Given the description of an element on the screen output the (x, y) to click on. 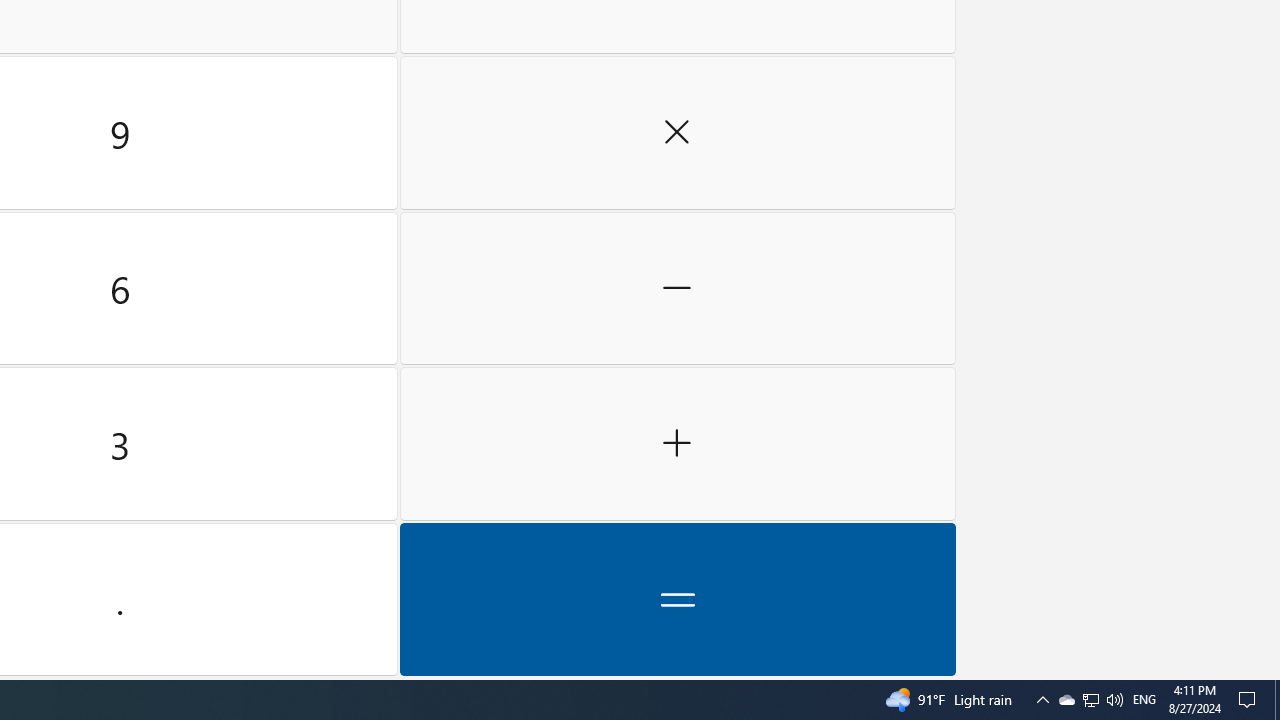
Tray Input Indicator - English (United States) (1144, 699)
Minus (677, 288)
Multiply by (677, 133)
Plus (677, 444)
Equals (677, 599)
